Given the description of an element on the screen output the (x, y) to click on. 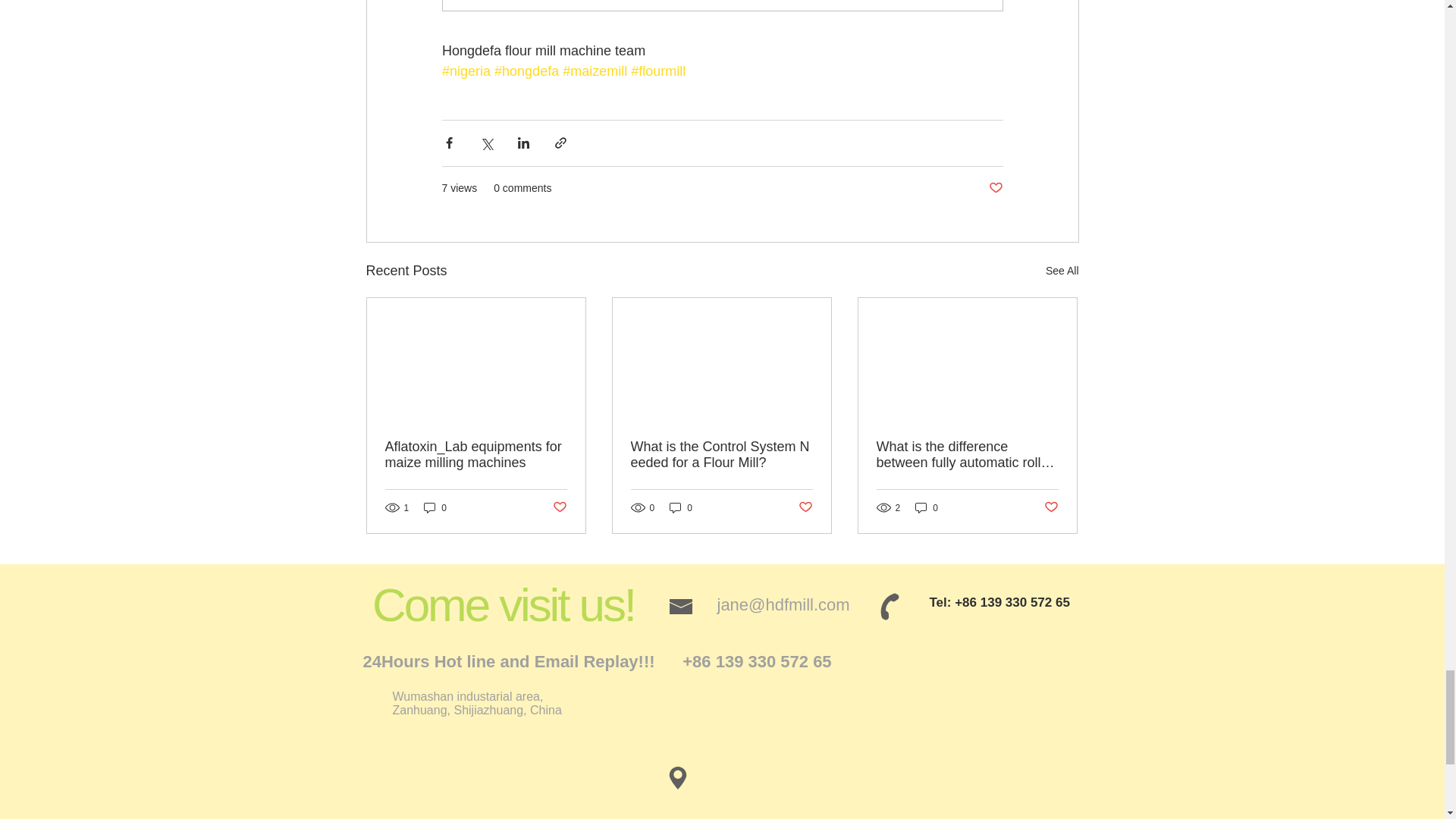
0 (435, 507)
Post not marked as liked (1050, 507)
Post not marked as liked (558, 507)
Post not marked as liked (804, 507)
See All (1061, 270)
0 (681, 507)
0 (926, 507)
Post not marked as liked (995, 188)
What is the Control System Needed for a Flour Mill? (721, 454)
